Given the description of an element on the screen output the (x, y) to click on. 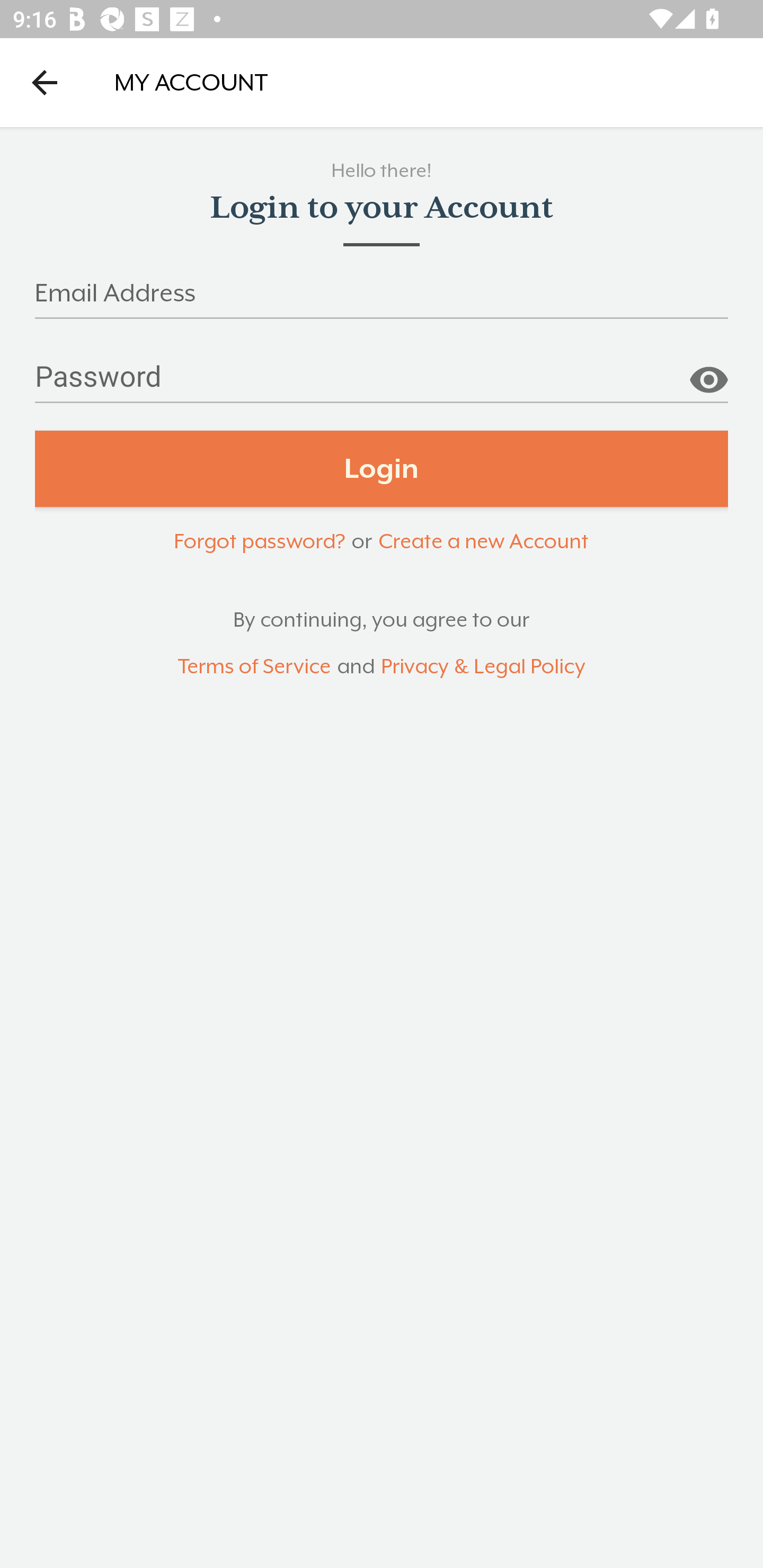
Navigate up (44, 82)
Email Address (381, 299)
 (708, 372)
Password (381, 383)
Login (381, 468)
Forgot password? (259, 540)
Create a new Account (483, 540)
Terms of Service (253, 666)
Privacy & Legal Policy (483, 666)
